Given the description of an element on the screen output the (x, y) to click on. 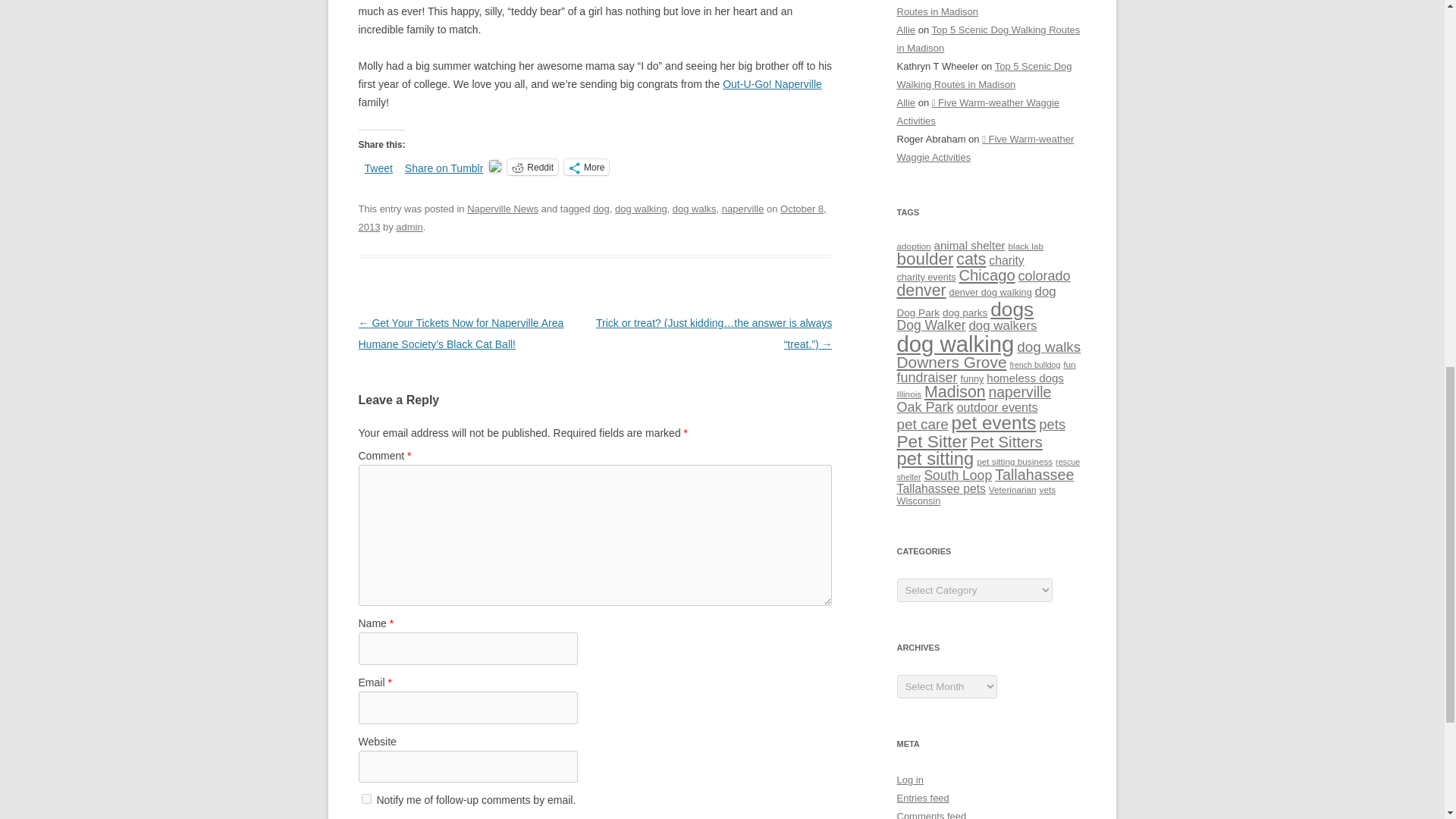
subscribe (366, 798)
October 8, 2013 (591, 217)
Reddit (531, 166)
naperville (743, 208)
More (586, 166)
Share on Tumblr (443, 165)
Tweet (377, 165)
Share on Tumblr (443, 165)
Out-U-Go! Naperville (772, 83)
Naperville News (502, 208)
